Given the description of an element on the screen output the (x, y) to click on. 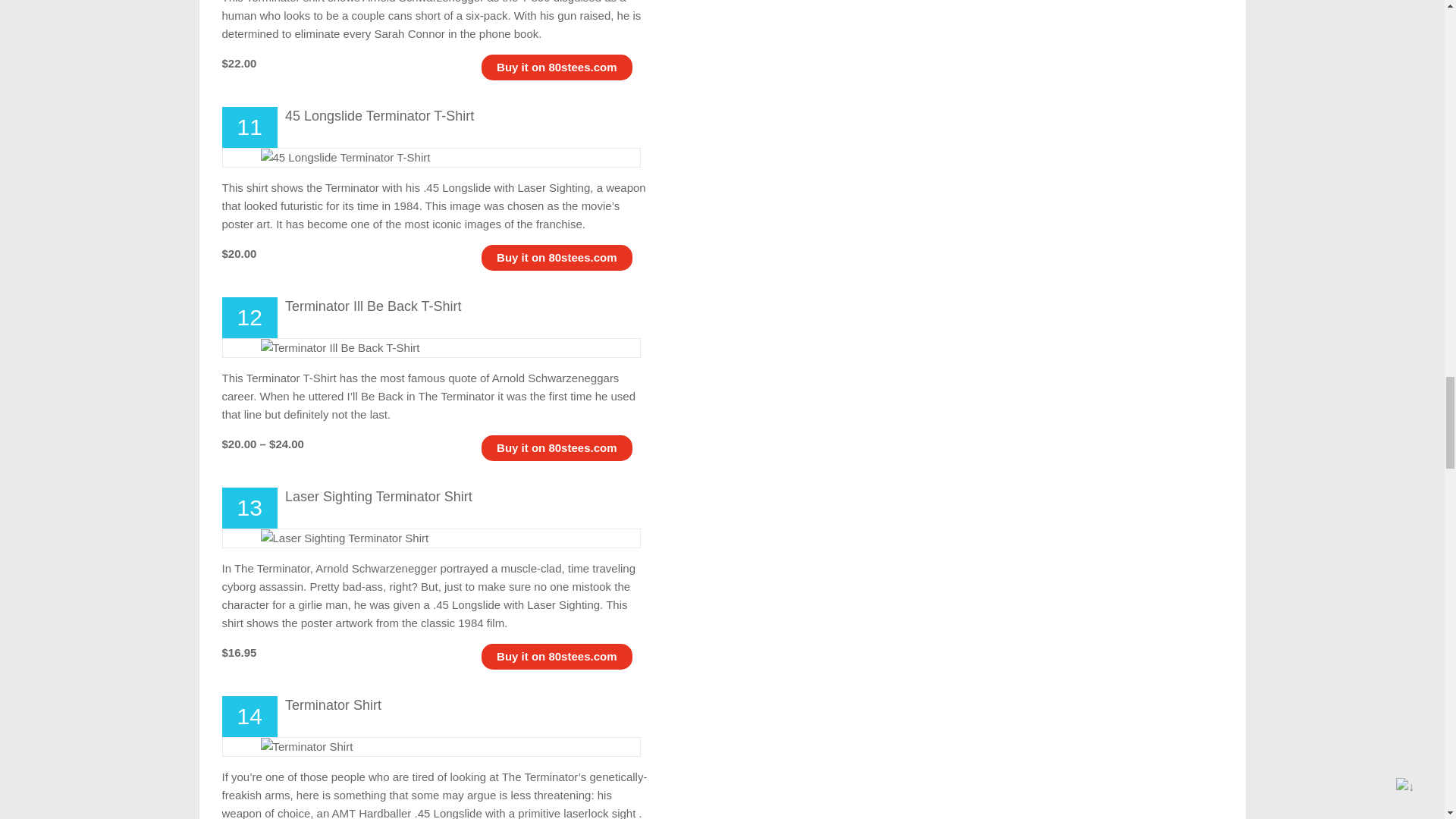
Buy it on 80stees.com (555, 256)
Buy it on 80stees.com (555, 656)
Buy it on 80stees.com (555, 447)
Buy it on 80stees.com (555, 66)
